Given the description of an element on the screen output the (x, y) to click on. 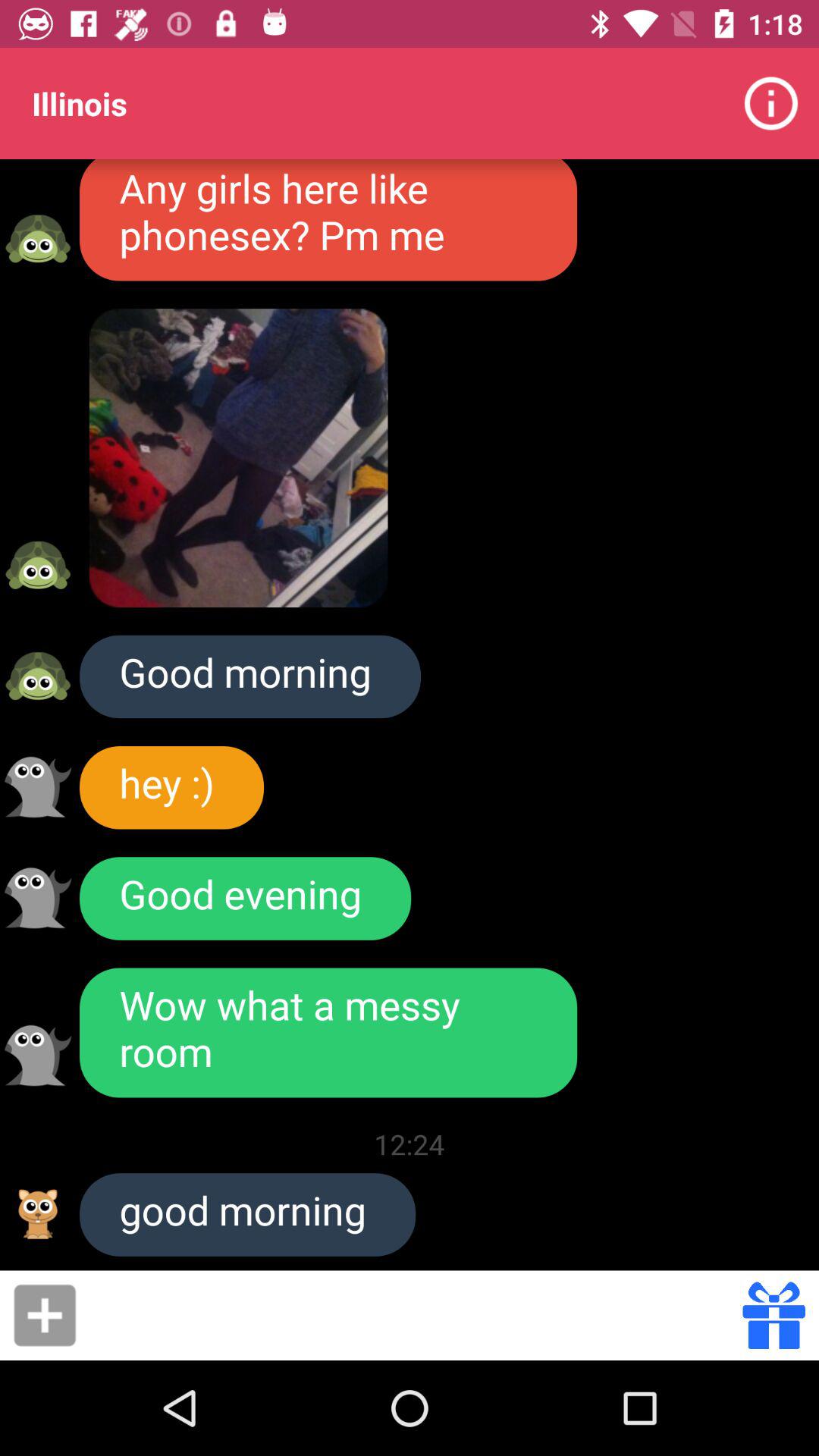
swipe to hey :) (171, 787)
